Given the description of an element on the screen output the (x, y) to click on. 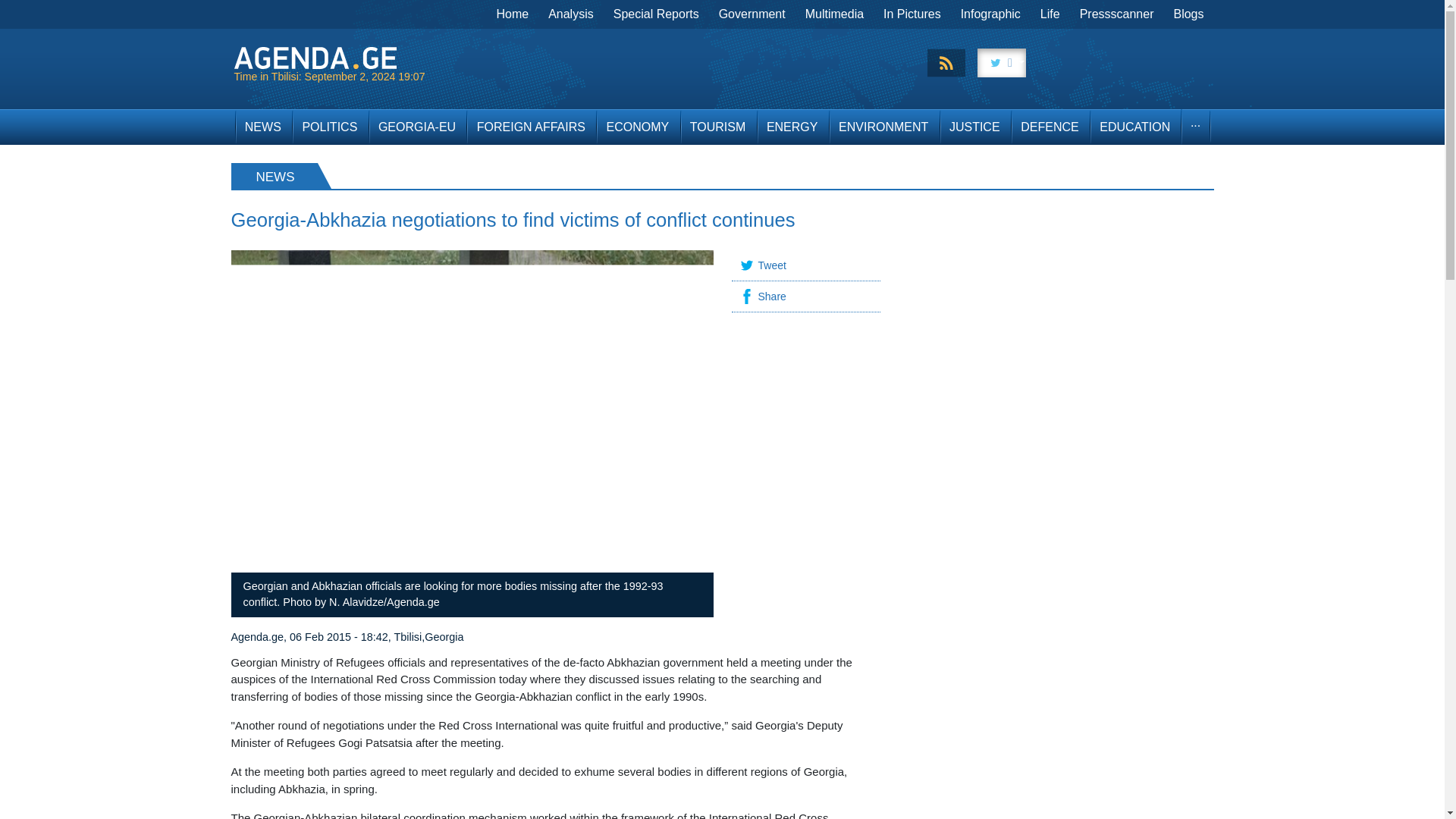
NEWS (262, 126)
Pressscanner (1116, 14)
Multimedia (833, 14)
In Pictures (911, 14)
Infographic (990, 14)
Government (751, 14)
Life (1050, 14)
Blogs (1187, 14)
Analysis (571, 14)
Home (512, 14)
